Given the description of an element on the screen output the (x, y) to click on. 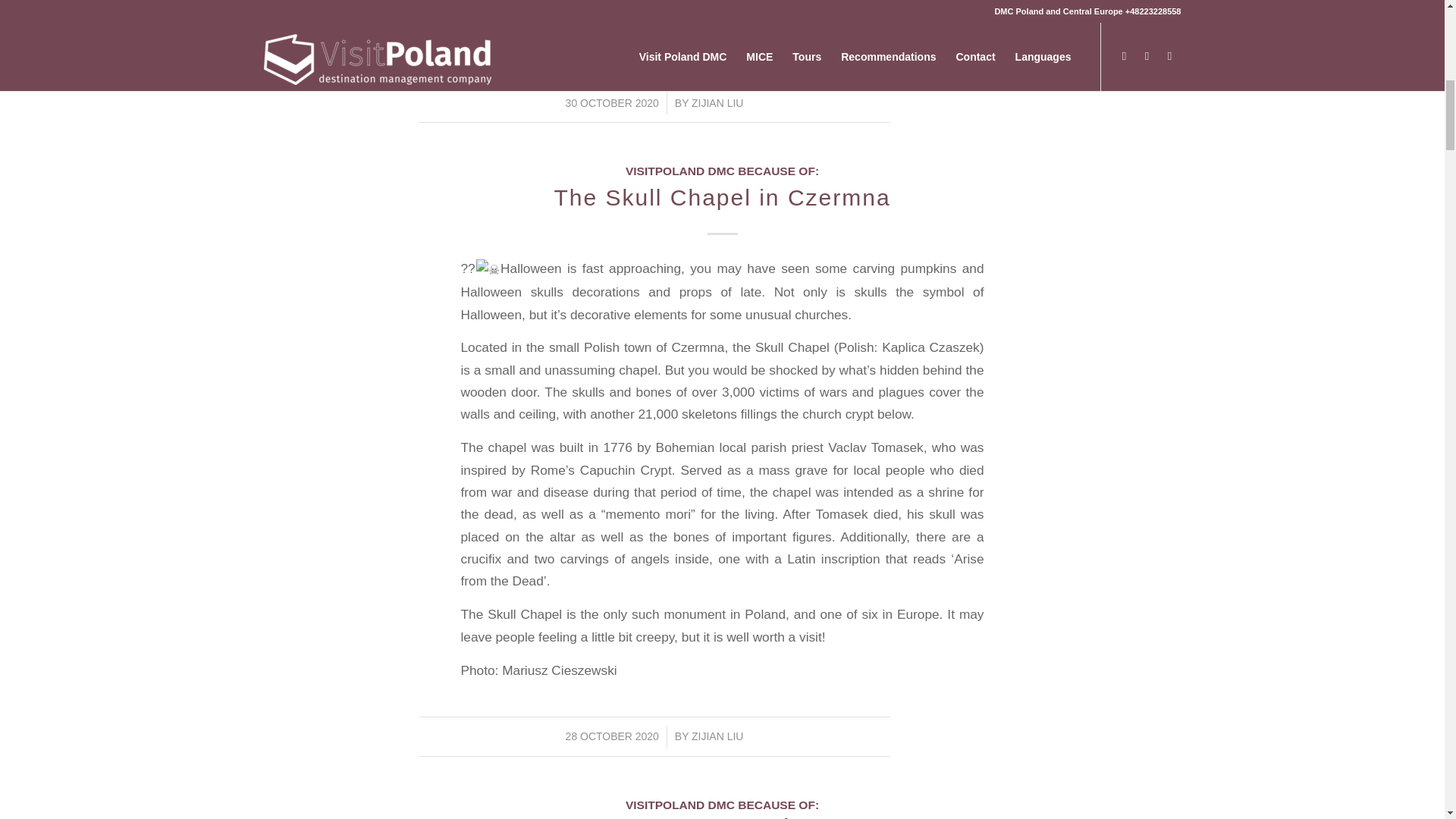
ZIJIAN LIU (716, 102)
VISITPOLAND DMC BECAUSE OF: (722, 170)
The Skull Chapel in Czermna (721, 197)
ZIJIAN LIU (716, 736)
Posts by Zijian Liu (716, 736)
VISITPOLAND DMC BECAUSE OF: (722, 804)
Permanent Link: The Skull Chapel in Czermna (721, 197)
Posts by Zijian Liu (716, 102)
